Given the description of an element on the screen output the (x, y) to click on. 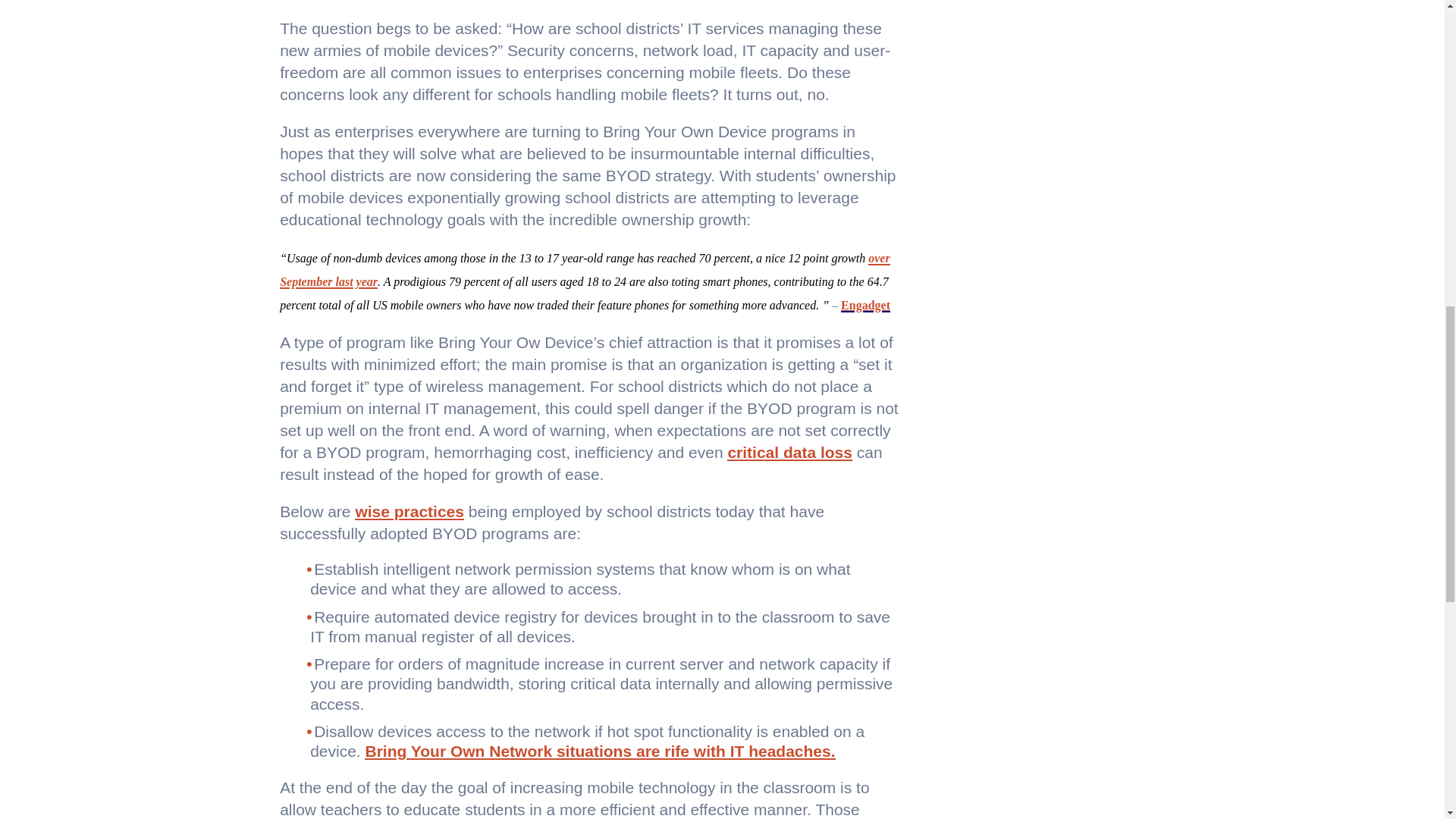
Engadget (865, 305)
critical data loss (788, 452)
wise practices (409, 511)
over September last year (584, 268)
